Given the description of an element on the screen output the (x, y) to click on. 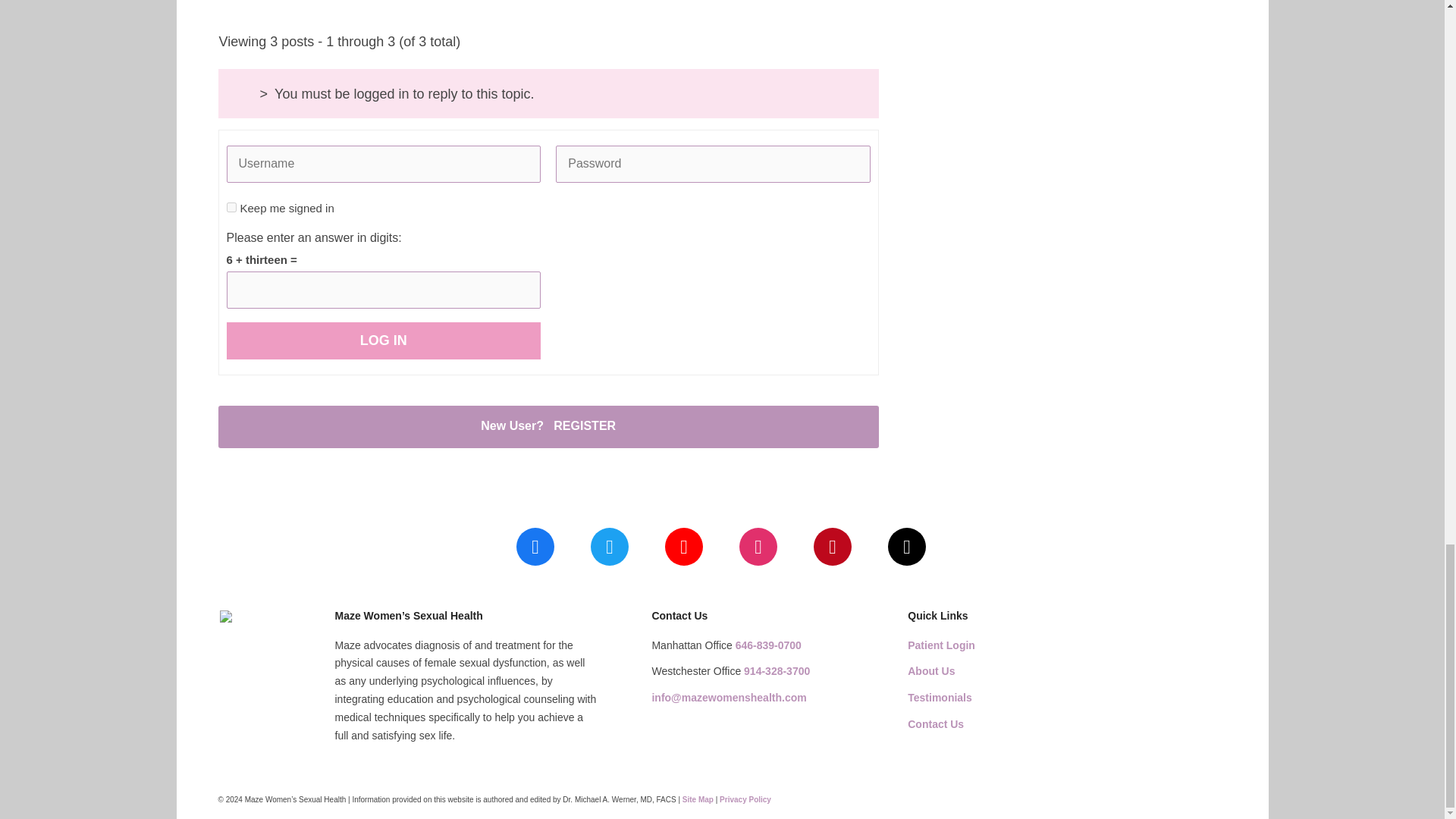
forever (230, 207)
